Given the description of an element on the screen output the (x, y) to click on. 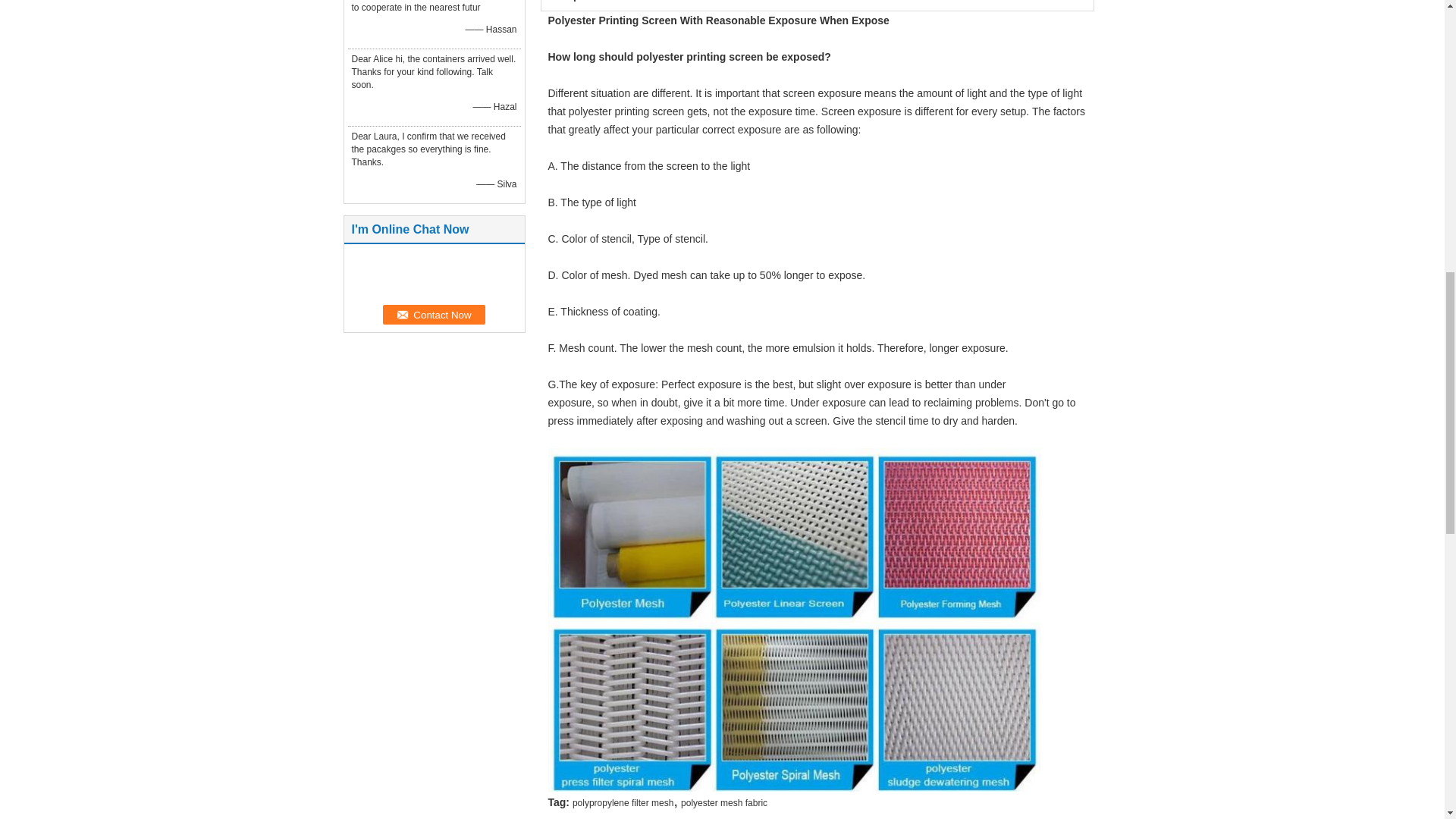
Contact Now (433, 314)
